Given the description of an element on the screen output the (x, y) to click on. 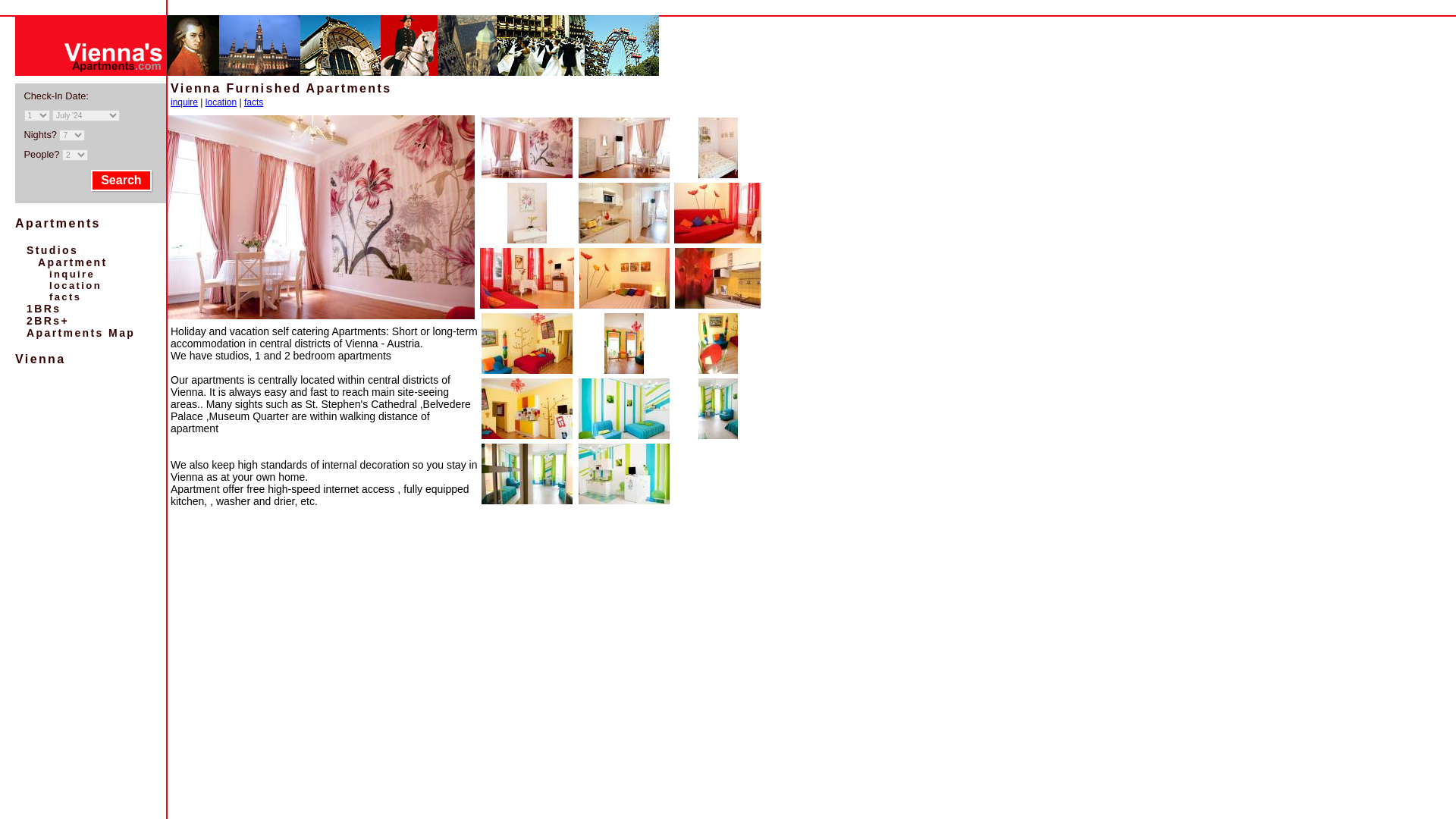
Send email to owner (71, 274)
facts (253, 102)
One bedroom apartments (43, 308)
Sights, Restaurants, Tips and Tricks (39, 358)
Garden studio (717, 212)
location (220, 102)
1BRs (43, 308)
butterfly 1 bedroom apartment (623, 212)
Search (120, 179)
Vienna Furnished Apartments - Home (72, 262)
Apartments in Vienna by categories (57, 223)
All Apartments on Vienna Map (80, 332)
Vienna Furnished Apartments (320, 217)
Apartment (72, 262)
Studios (52, 250)
